Given the description of an element on the screen output the (x, y) to click on. 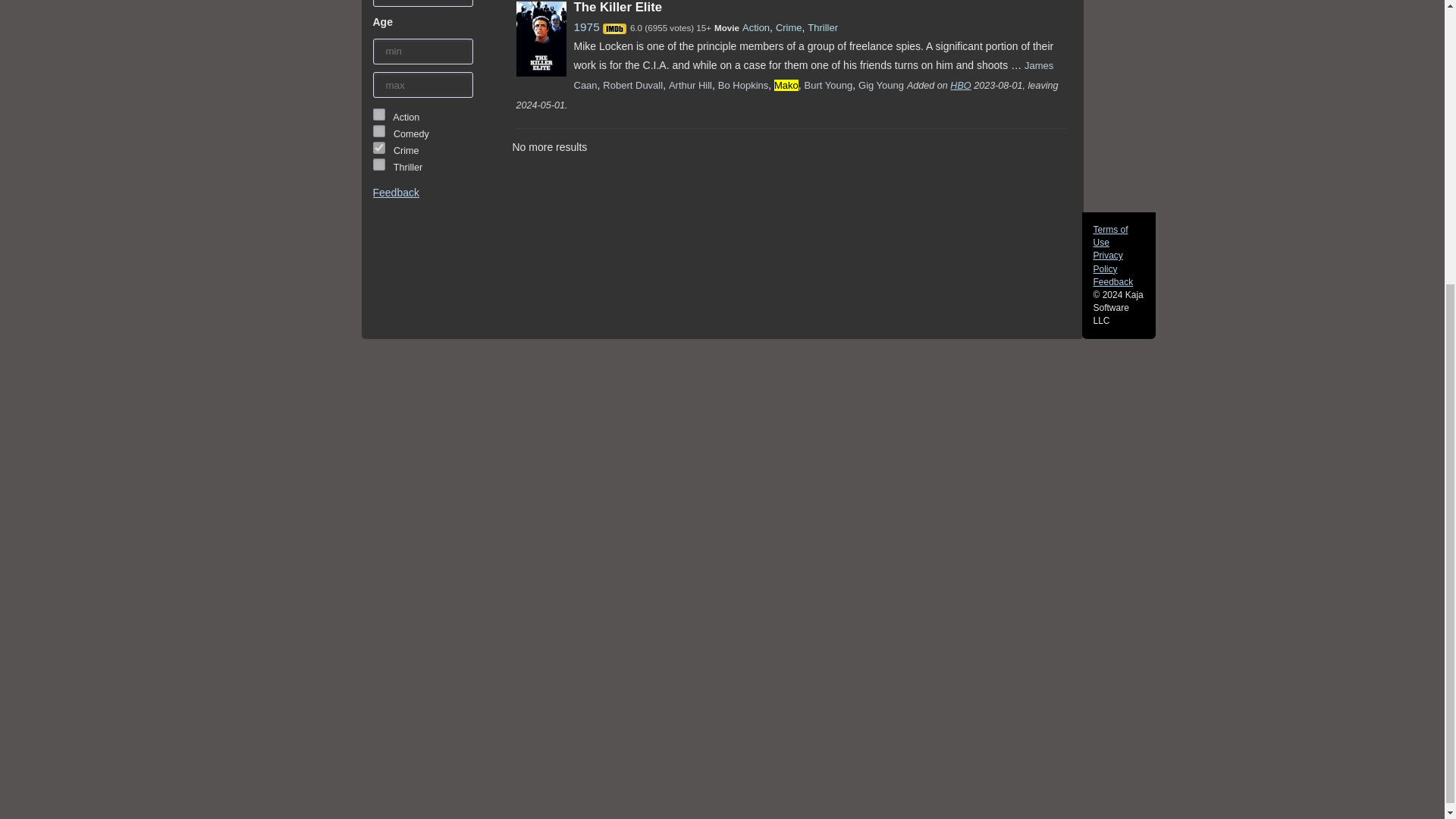
Crime (378, 147)
Thriller (378, 164)
Comedy (378, 131)
Action (378, 114)
Advertisement (66, 581)
Feedback (395, 192)
Action (756, 27)
1975 (585, 26)
The Killer Elite (617, 7)
